Given the description of an element on the screen output the (x, y) to click on. 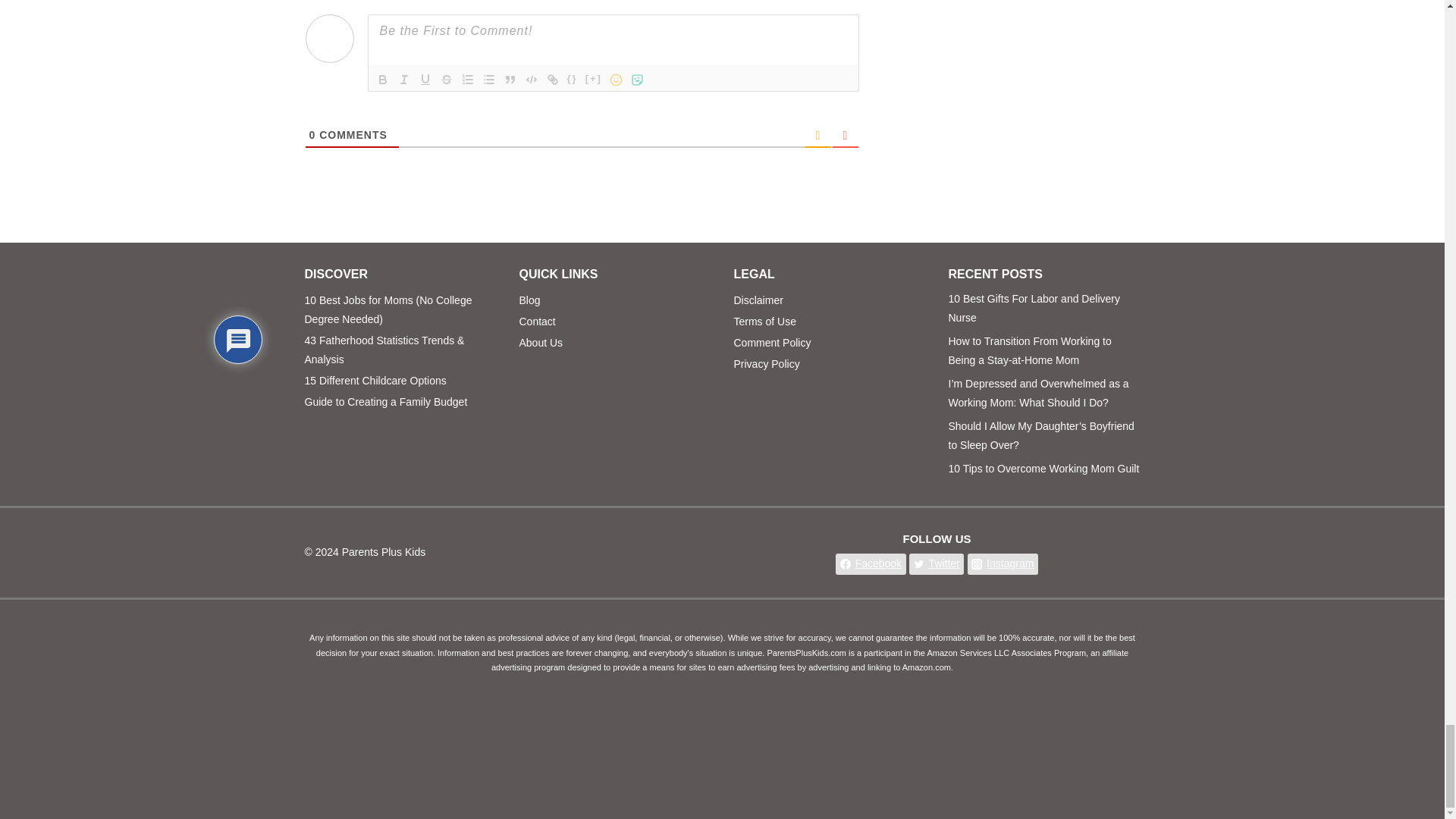
Source Code (571, 79)
Strike (446, 79)
Unordered List (488, 79)
Ordered List (467, 79)
Code Block (530, 79)
Bold (382, 79)
Underline (424, 79)
Spoiler (592, 79)
Link (551, 79)
Blockquote (509, 79)
Italic (403, 79)
